Given the description of an element on the screen output the (x, y) to click on. 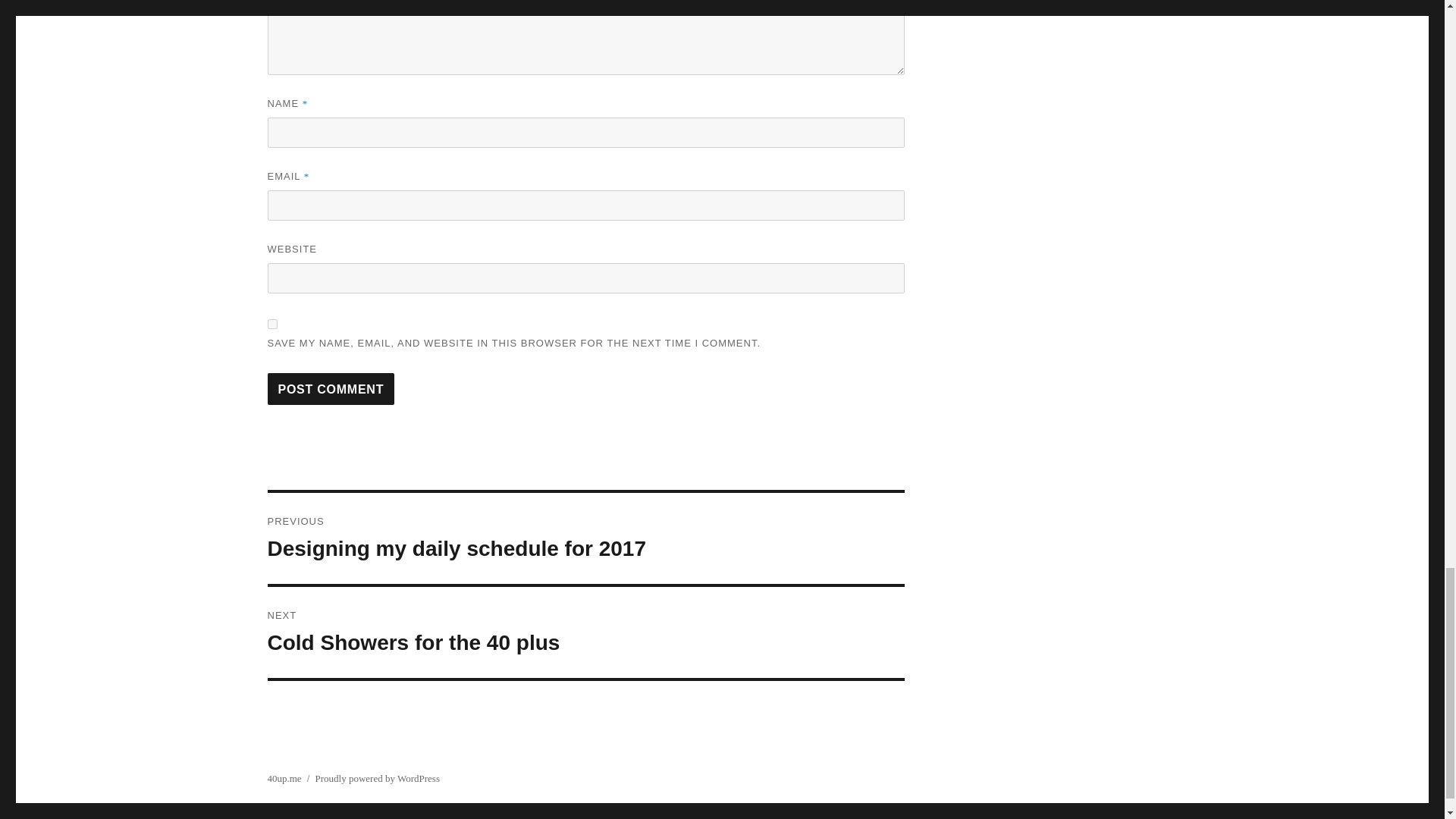
Post Comment (330, 388)
yes (271, 324)
Post Comment (330, 388)
